Given the description of an element on the screen output the (x, y) to click on. 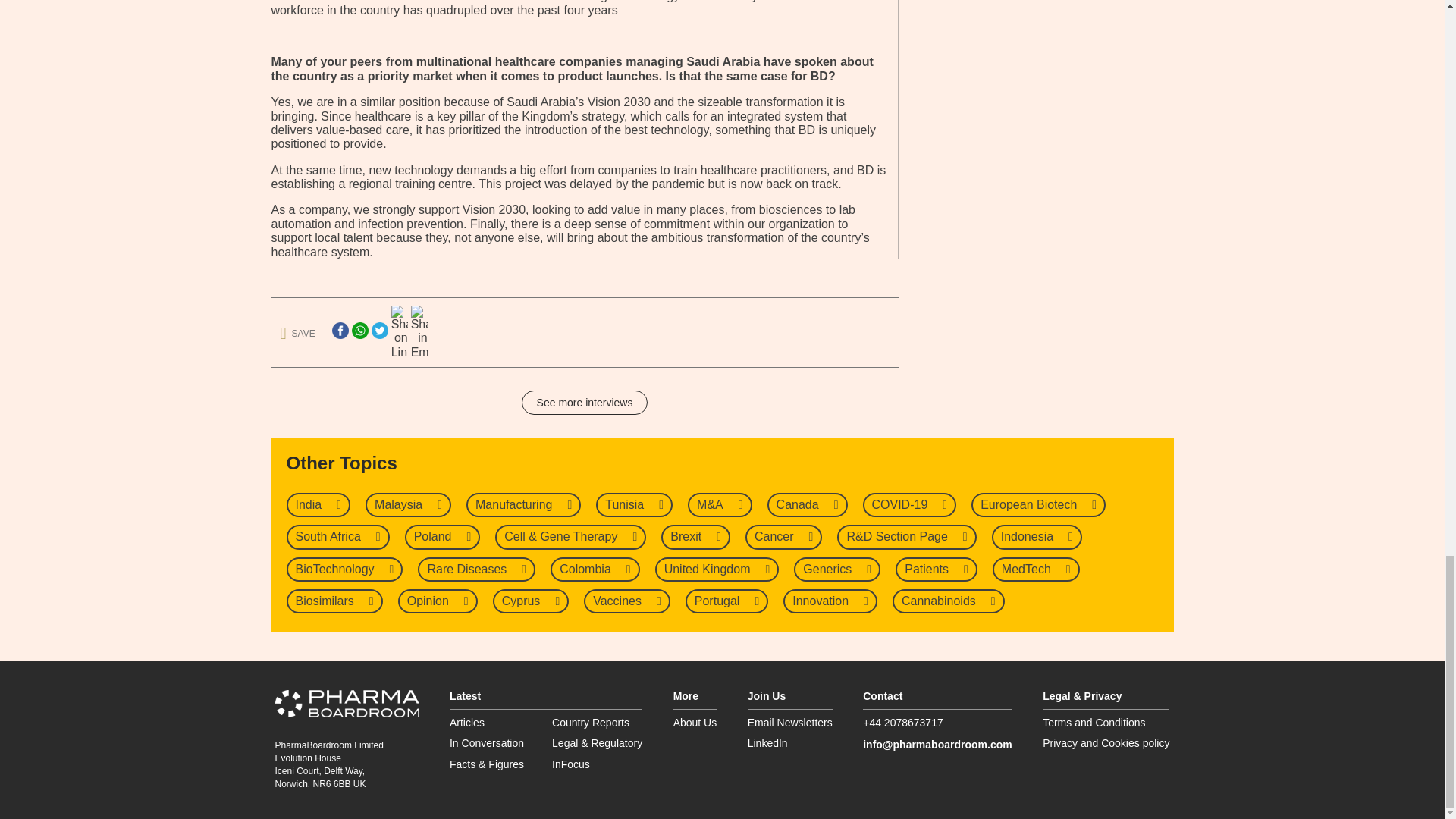
WhatsApp (360, 330)
Facebook (340, 330)
Twitter (379, 330)
